Given the description of an element on the screen output the (x, y) to click on. 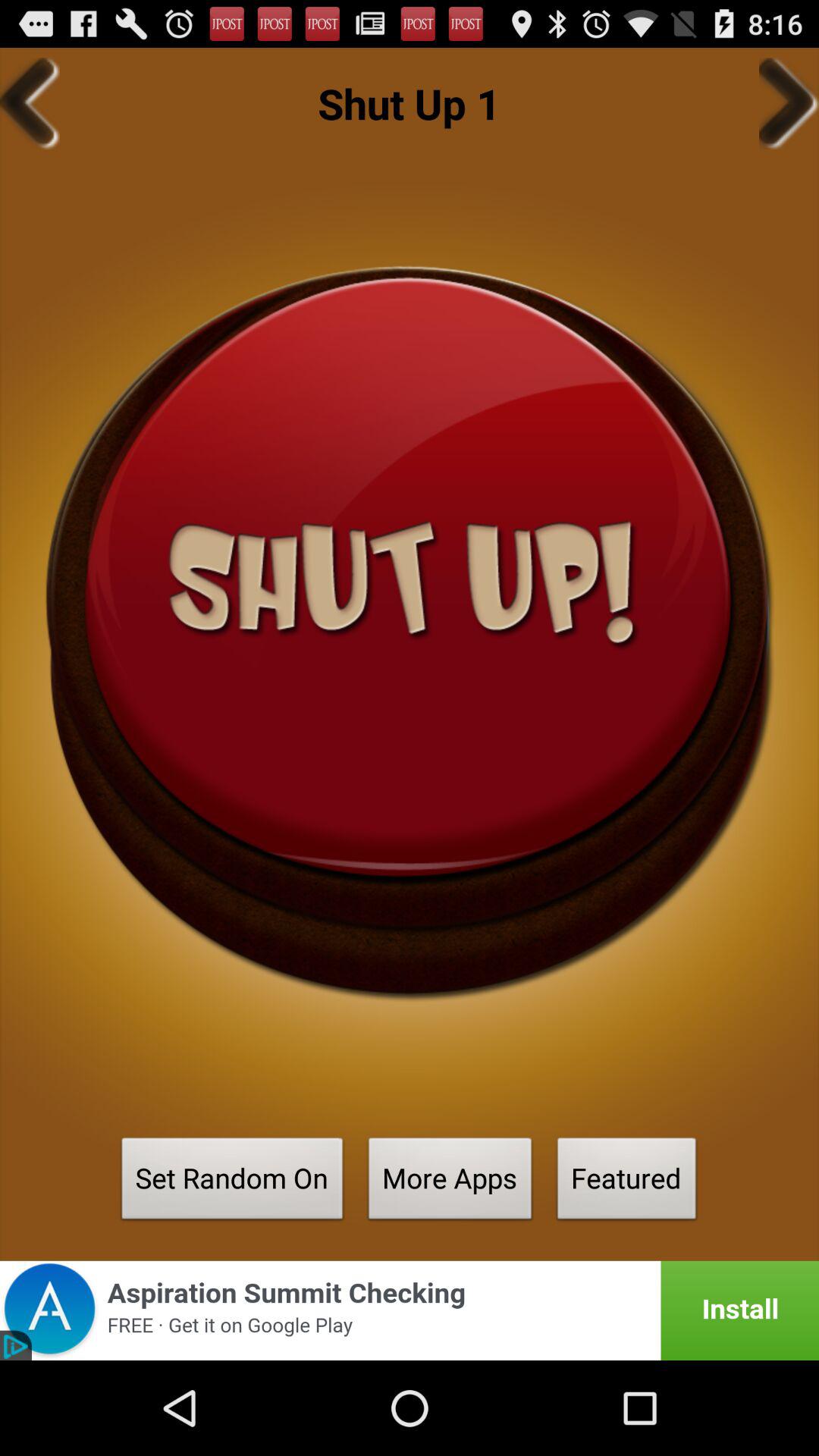
open icon to the right of the shut up 1 app (789, 103)
